Given the description of an element on the screen output the (x, y) to click on. 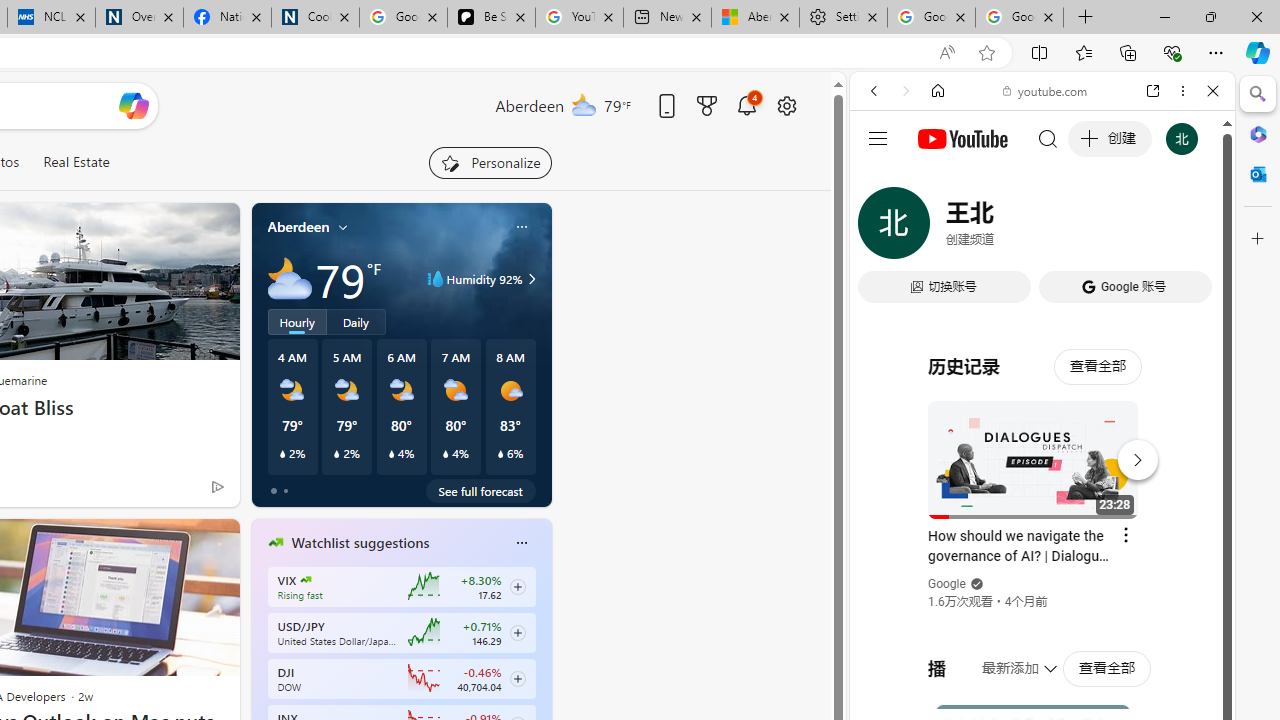
Search the web (1051, 137)
#you (1042, 445)
Class: weather-arrow-glyph (531, 278)
Trailer #2 [HD] (1042, 594)
Mostly cloudy (289, 278)
Class: icon-img (521, 542)
